Given the description of an element on the screen output the (x, y) to click on. 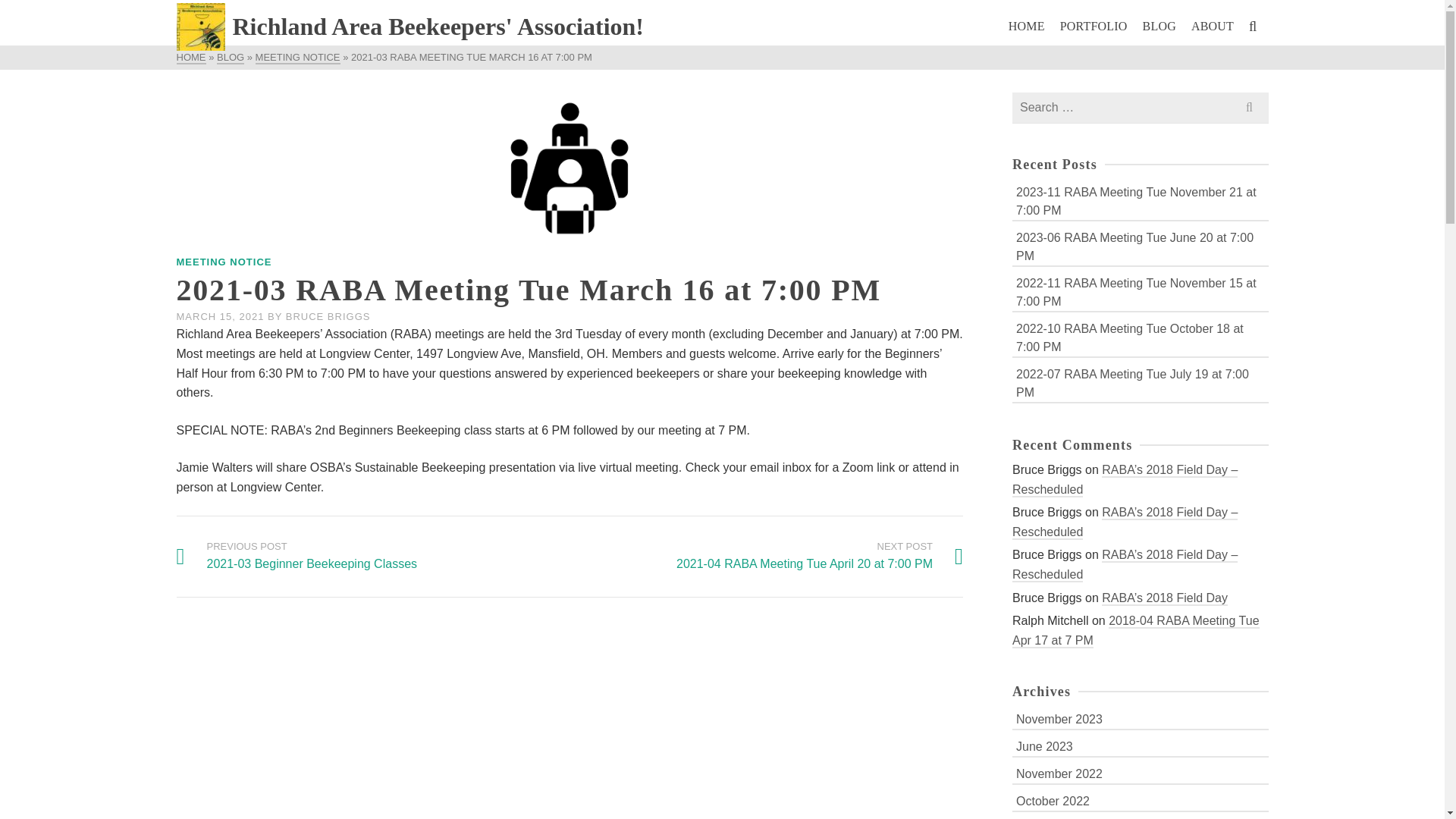
Richland Area Beekeepers' Association! (409, 26)
June 2022 (1139, 817)
ABOUT (1212, 26)
MEETING NOTICE (223, 261)
June 2023 (1139, 745)
November 2023 (819, 556)
MEETING NOTICE (1139, 718)
BLOG (298, 57)
HOME (230, 57)
